Given the description of an element on the screen output the (x, y) to click on. 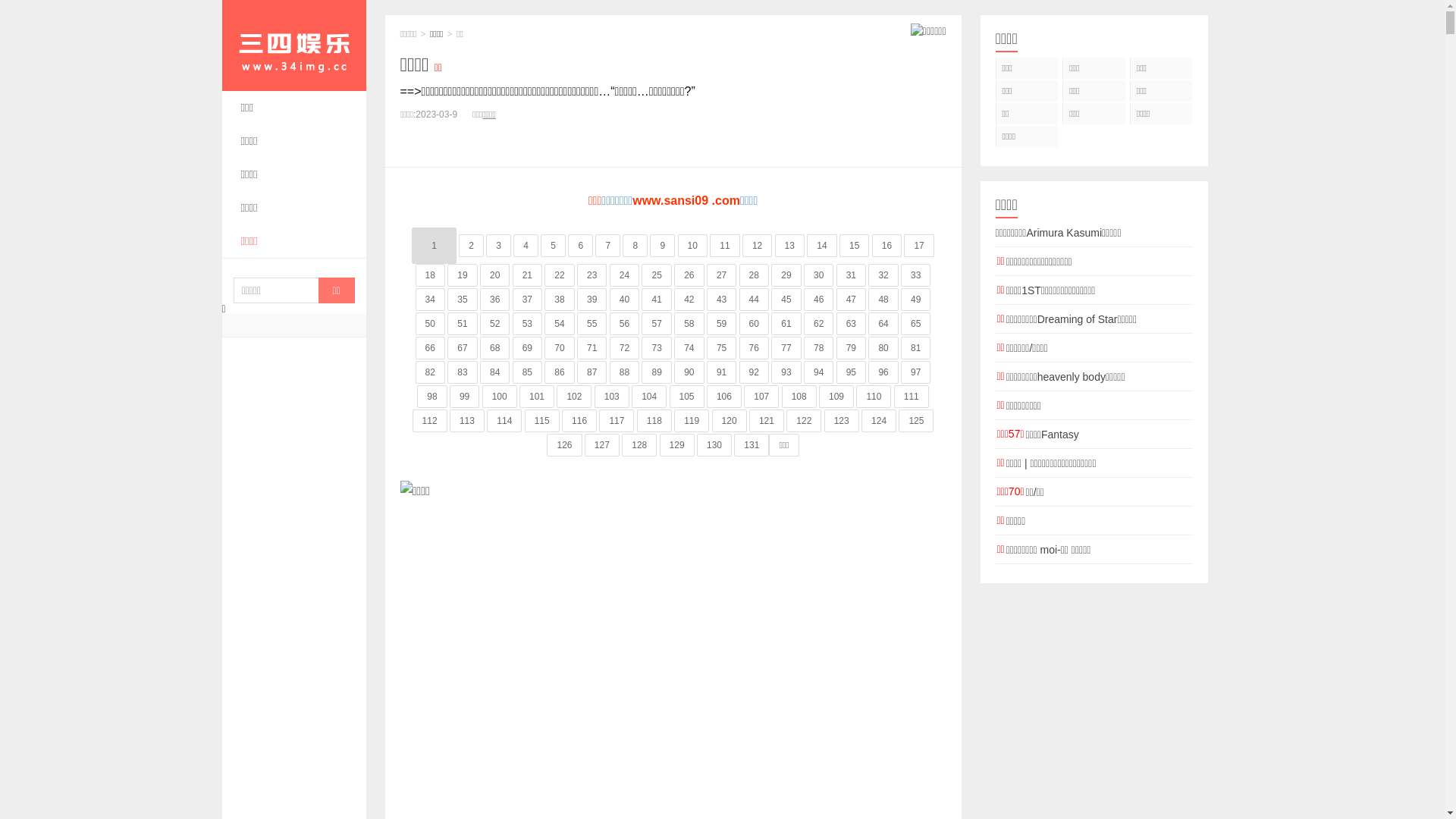
114 Element type: text (503, 420)
33 Element type: text (915, 274)
53 Element type: text (527, 323)
122 Element type: text (803, 420)
44 Element type: text (753, 299)
100 Element type: text (499, 396)
58 Element type: text (688, 323)
101 Element type: text (536, 396)
83 Element type: text (461, 372)
17 Element type: text (918, 245)
87 Element type: text (591, 372)
46 Element type: text (818, 299)
45 Element type: text (785, 299)
124 Element type: text (878, 420)
93 Element type: text (785, 372)
82 Element type: text (430, 372)
49 Element type: text (915, 299)
32 Element type: text (882, 274)
29 Element type: text (785, 274)
16 Element type: text (886, 245)
24 Element type: text (624, 274)
28 Element type: text (753, 274)
59 Element type: text (721, 323)
75 Element type: text (721, 347)
63 Element type: text (851, 323)
10 Element type: text (692, 245)
68 Element type: text (494, 347)
67 Element type: text (461, 347)
117 Element type: text (616, 420)
95 Element type: text (851, 372)
110 Element type: text (873, 396)
22 Element type: text (559, 274)
90 Element type: text (688, 372)
31 Element type: text (851, 274)
118 Element type: text (654, 420)
92 Element type: text (753, 372)
38 Element type: text (559, 299)
113 Element type: text (466, 420)
97 Element type: text (915, 372)
109 Element type: text (836, 396)
88 Element type: text (624, 372)
81 Element type: text (915, 347)
12 Element type: text (756, 245)
111 Element type: text (911, 396)
98 Element type: text (431, 396)
39 Element type: text (591, 299)
105 Element type: text (685, 396)
18 Element type: text (430, 274)
9 Element type: text (661, 245)
48 Element type: text (882, 299)
51 Element type: text (461, 323)
47 Element type: text (851, 299)
85 Element type: text (527, 372)
116 Element type: text (578, 420)
55 Element type: text (591, 323)
56 Element type: text (624, 323)
112 Element type: text (429, 420)
50 Element type: text (430, 323)
66 Element type: text (430, 347)
70 Element type: text (559, 347)
6 Element type: text (580, 245)
27 Element type: text (721, 274)
76 Element type: text (753, 347)
71 Element type: text (591, 347)
19 Element type: text (461, 274)
37 Element type: text (527, 299)
34 Element type: text (430, 299)
57 Element type: text (656, 323)
42 Element type: text (688, 299)
86 Element type: text (559, 372)
13 Element type: text (789, 245)
41 Element type: text (656, 299)
35 Element type: text (461, 299)
62 Element type: text (818, 323)
102 Element type: text (573, 396)
125 Element type: text (915, 420)
91 Element type: text (721, 372)
123 Element type: text (841, 420)
65 Element type: text (915, 323)
11 Element type: text (724, 245)
23 Element type: text (591, 274)
15 Element type: text (854, 245)
128 Element type: text (638, 444)
2 Element type: text (470, 245)
103 Element type: text (611, 396)
96 Element type: text (882, 372)
30 Element type: text (818, 274)
77 Element type: text (785, 347)
20 Element type: text (494, 274)
99 Element type: text (464, 396)
8 Element type: text (634, 245)
52 Element type: text (494, 323)
120 Element type: text (729, 420)
115 Element type: text (541, 420)
74 Element type: text (688, 347)
14 Element type: text (821, 245)
73 Element type: text (656, 347)
129 Element type: text (676, 444)
40 Element type: text (624, 299)
54 Element type: text (559, 323)
25 Element type: text (656, 274)
130 Element type: text (713, 444)
89 Element type: text (656, 372)
127 Element type: text (601, 444)
108 Element type: text (798, 396)
72 Element type: text (624, 347)
107 Element type: text (760, 396)
43 Element type: text (721, 299)
5 Element type: text (552, 245)
131 Element type: text (751, 444)
21 Element type: text (527, 274)
69 Element type: text (527, 347)
94 Element type: text (818, 372)
119 Element type: text (691, 420)
4 Element type: text (525, 245)
80 Element type: text (882, 347)
104 Element type: text (648, 396)
7 Element type: text (607, 245)
126 Element type: text (563, 444)
26 Element type: text (688, 274)
60 Element type: text (753, 323)
106 Element type: text (723, 396)
64 Element type: text (882, 323)
36 Element type: text (494, 299)
61 Element type: text (785, 323)
84 Element type: text (494, 372)
121 Element type: text (766, 420)
79 Element type: text (851, 347)
78 Element type: text (818, 347)
3 Element type: text (498, 245)
